Given the description of an element on the screen output the (x, y) to click on. 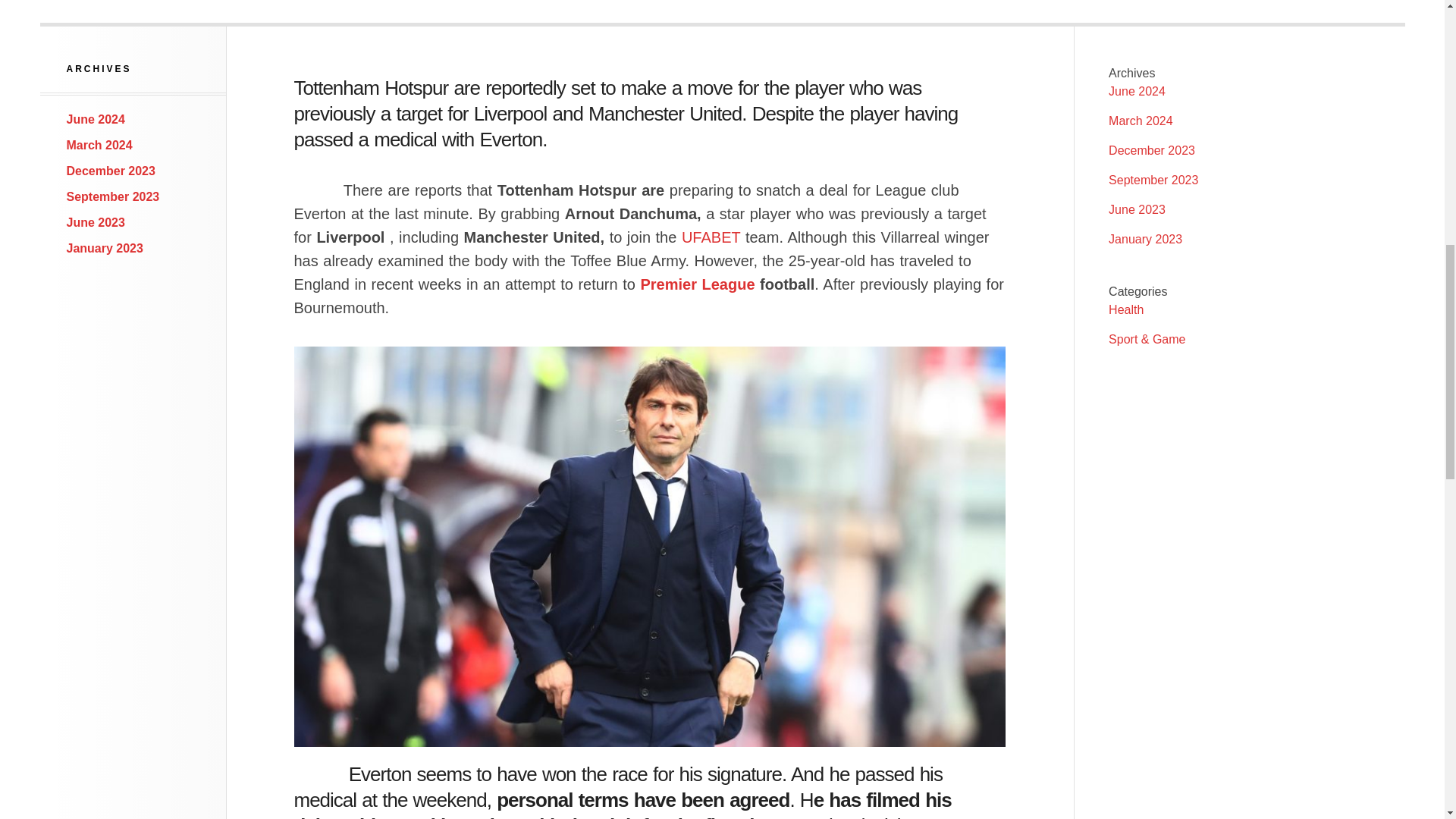
June 2023 (95, 222)
January 2023 (104, 247)
March 2024 (99, 144)
Health (1125, 309)
June 2024 (1137, 91)
June 2023 (1137, 209)
September 2023 (1153, 179)
UFABET (710, 237)
September 2023 (113, 196)
Premier League (697, 284)
